Given the description of an element on the screen output the (x, y) to click on. 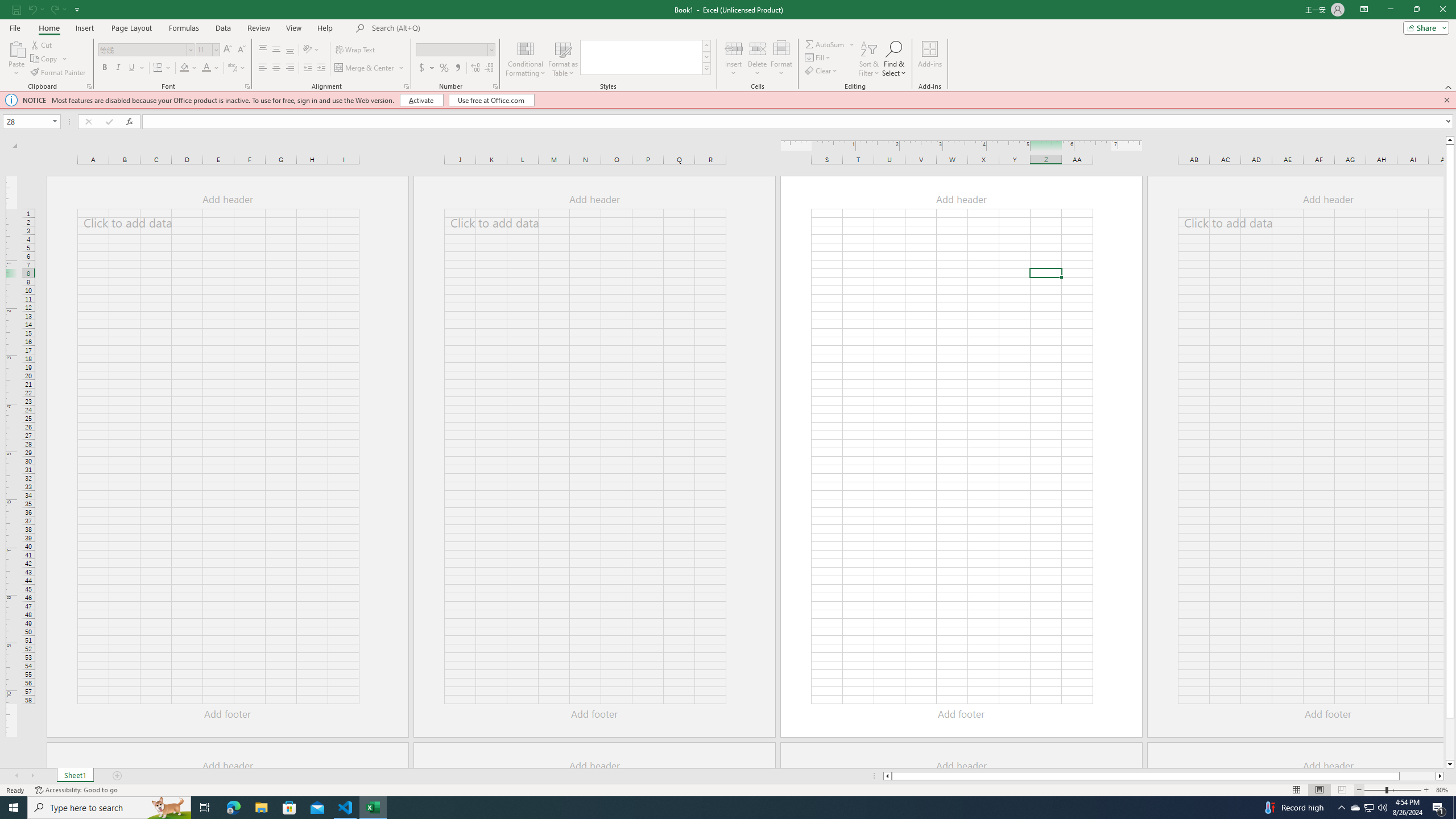
Center (276, 67)
Top Align (262, 49)
Cut (42, 44)
Middle Align (276, 49)
Fill Color (188, 67)
